Given the description of an element on the screen output the (x, y) to click on. 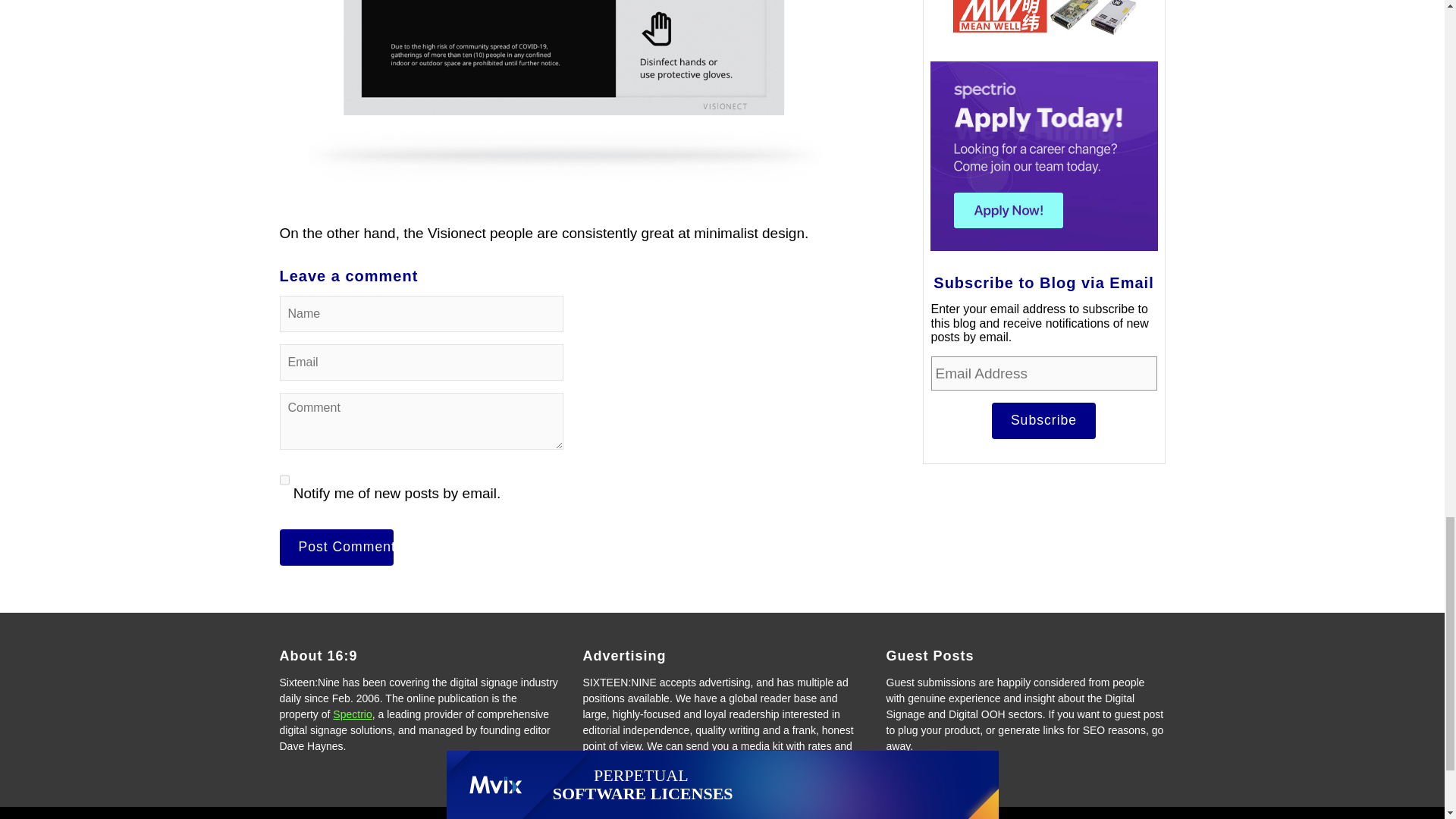
Spectrio (352, 714)
Post Comment (336, 547)
Subscribe (1043, 420)
Post Comment (336, 547)
